Given the description of an element on the screen output the (x, y) to click on. 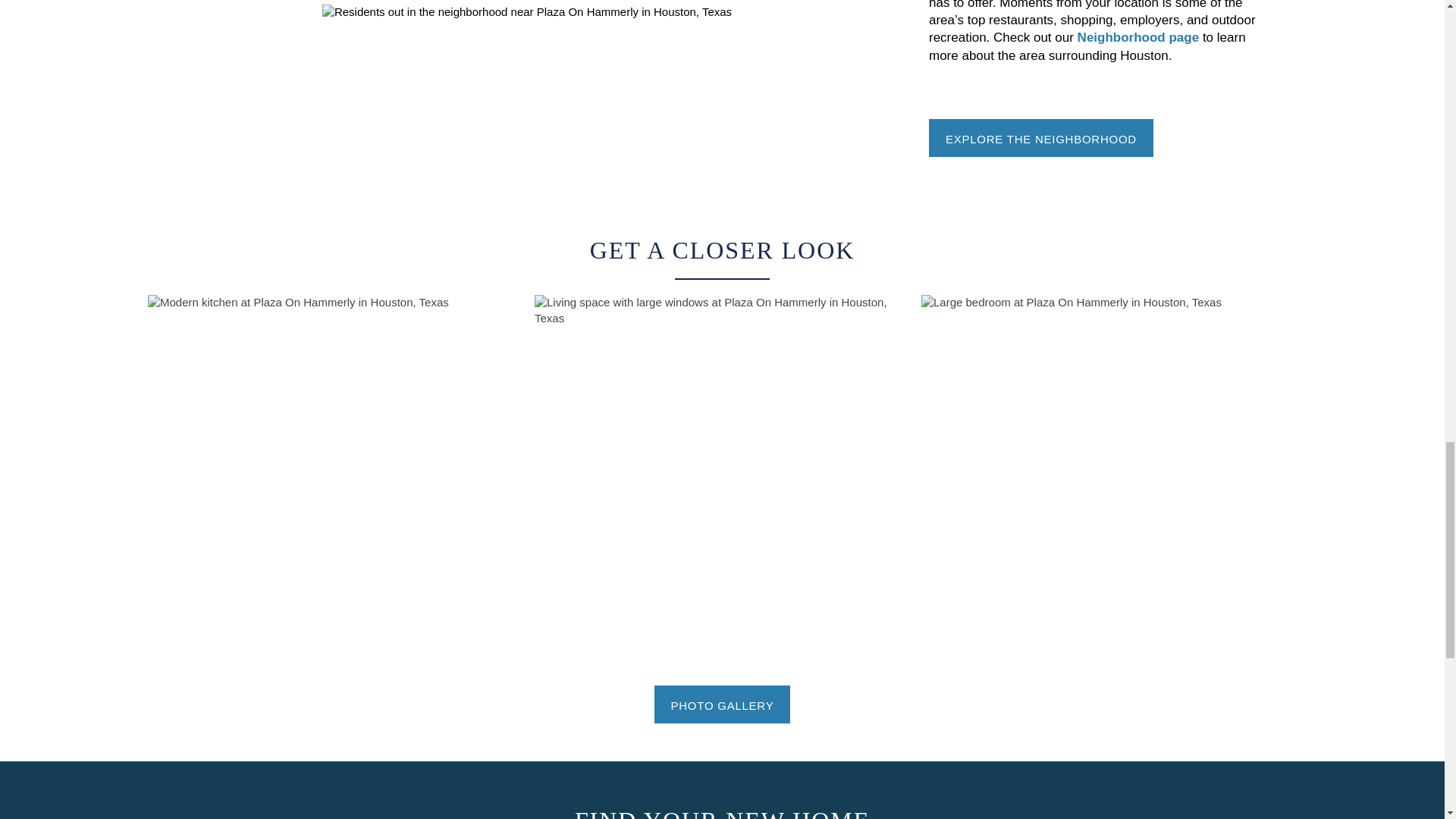
Neighborhood page (1138, 37)
EXPLORE THE NEIGHBORHOOD (1040, 137)
PHOTO GALLERY (721, 704)
